Given the description of an element on the screen output the (x, y) to click on. 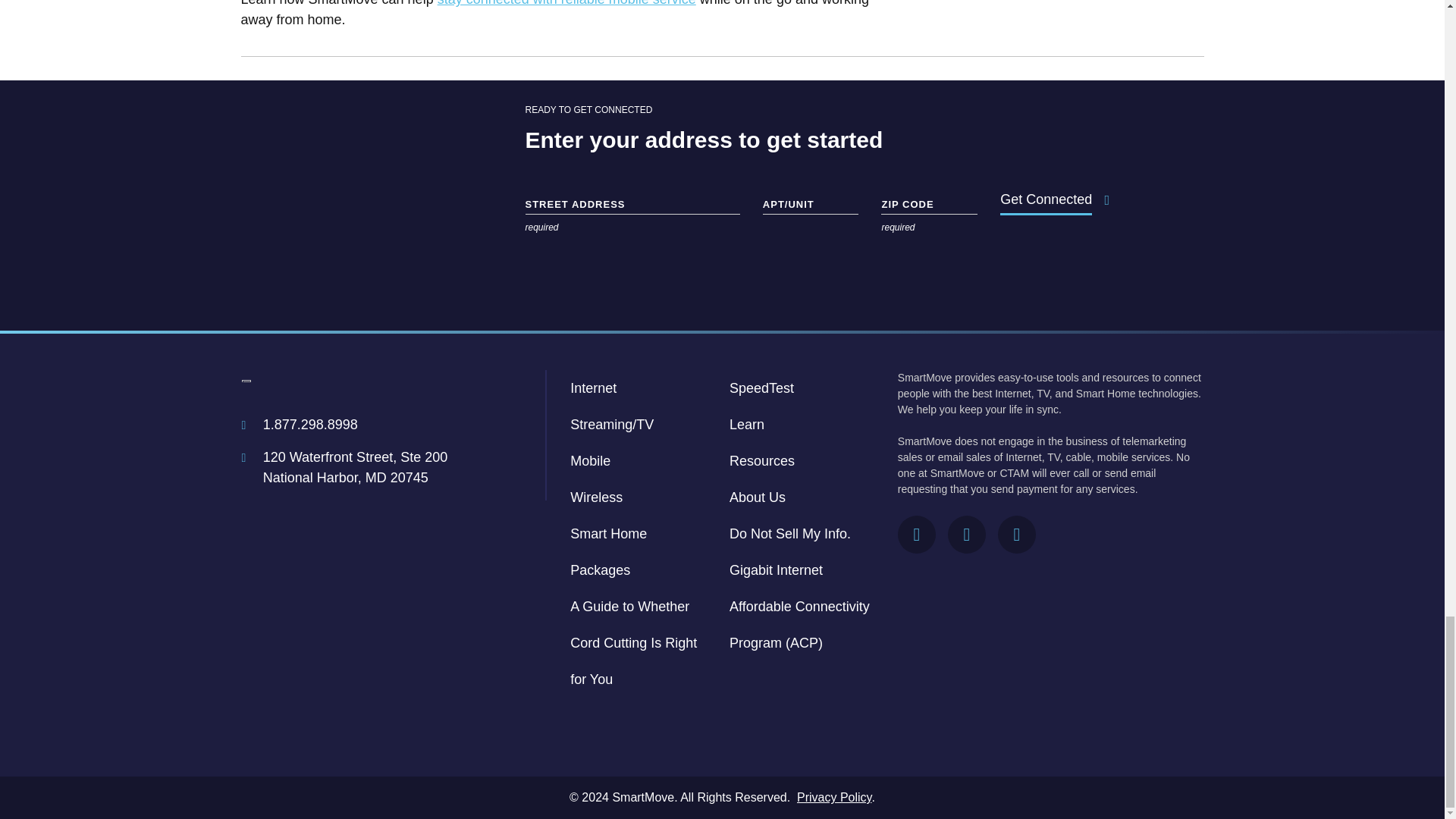
Smart Home (608, 533)
Internet (592, 387)
stay connected with reliable mobile service (566, 3)
Mobile (590, 460)
Get Connected (1046, 199)
1.877.298.8998 (310, 424)
Wireless (596, 497)
